Given the description of an element on the screen output the (x, y) to click on. 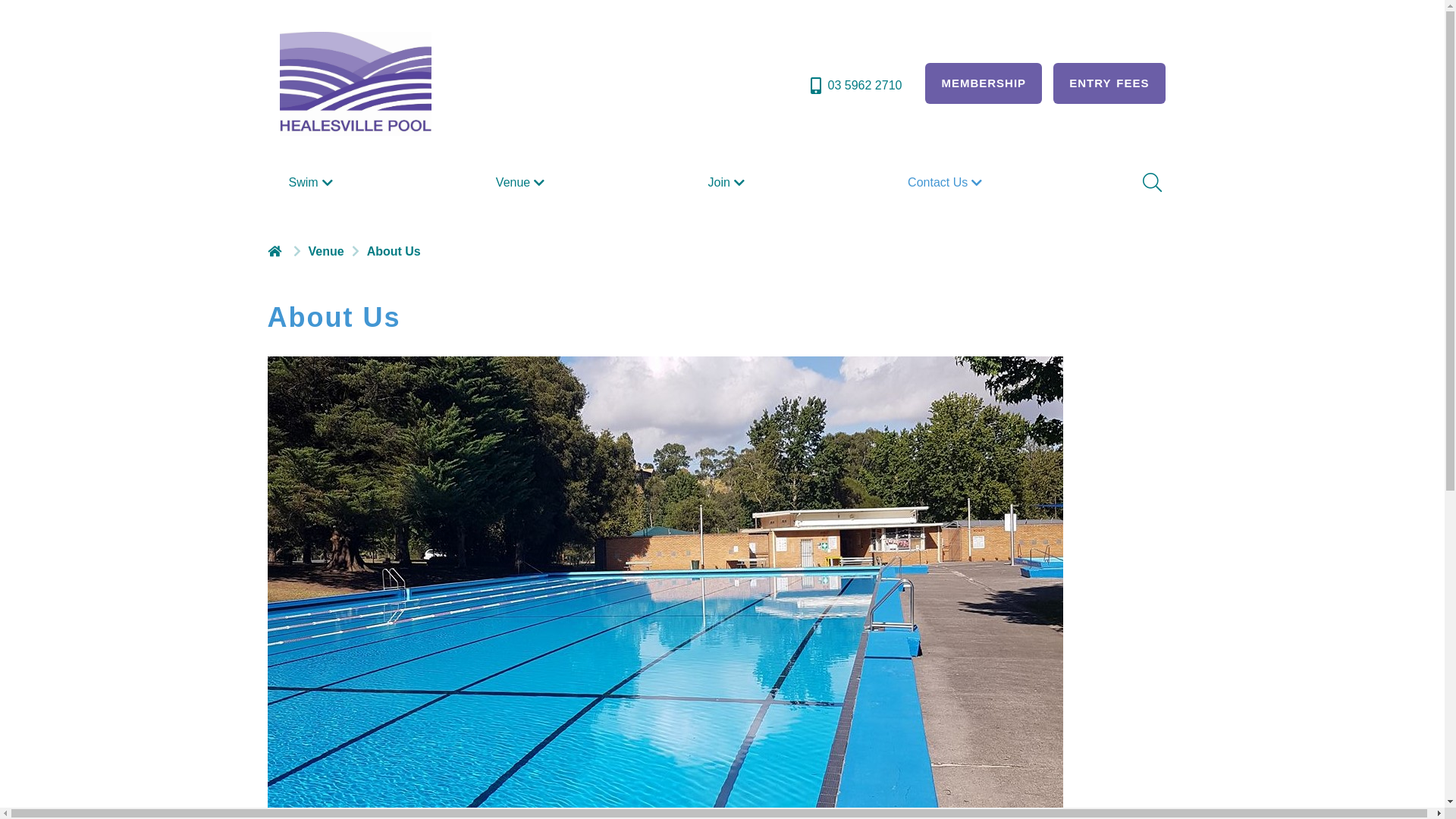
Search Element type: text (1150, 182)
Contact Us Element type: text (946, 182)
  Element type: text (275, 250)
ENTRY FEES Element type: text (1108, 82)
Join Element type: text (728, 182)
MEMBERSHIP Element type: text (983, 82)
Venue Element type: text (521, 182)
03 5962 2710 Element type: text (854, 85)
Swim Element type: text (312, 182)
